Given the description of an element on the screen output the (x, y) to click on. 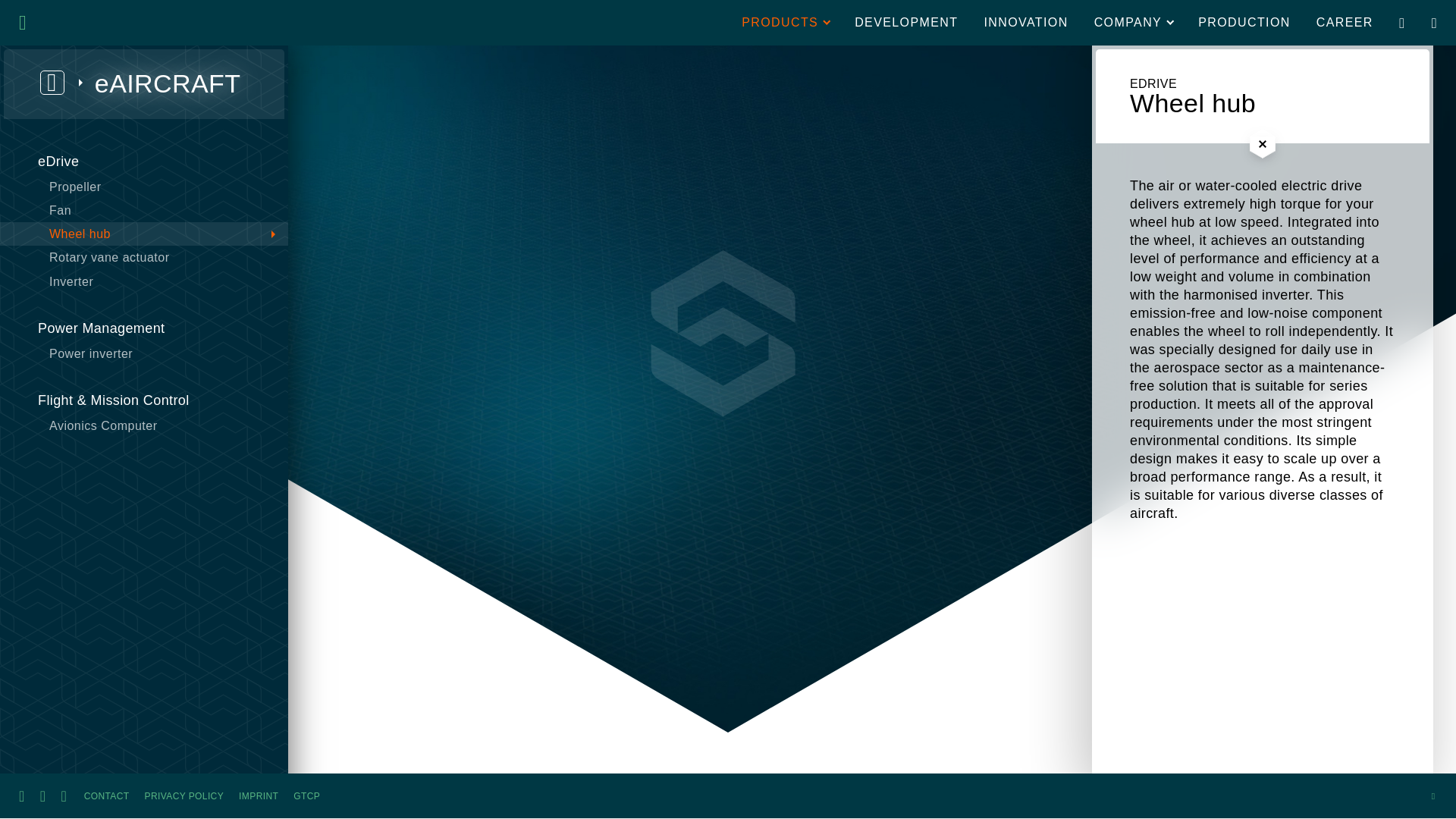
DEVELOPMENT (906, 22)
PRODUCTS (785, 22)
SCROLL TOP (1433, 795)
Products (785, 22)
Silver Atena (70, 22)
Home (70, 22)
